Given the description of an element on the screen output the (x, y) to click on. 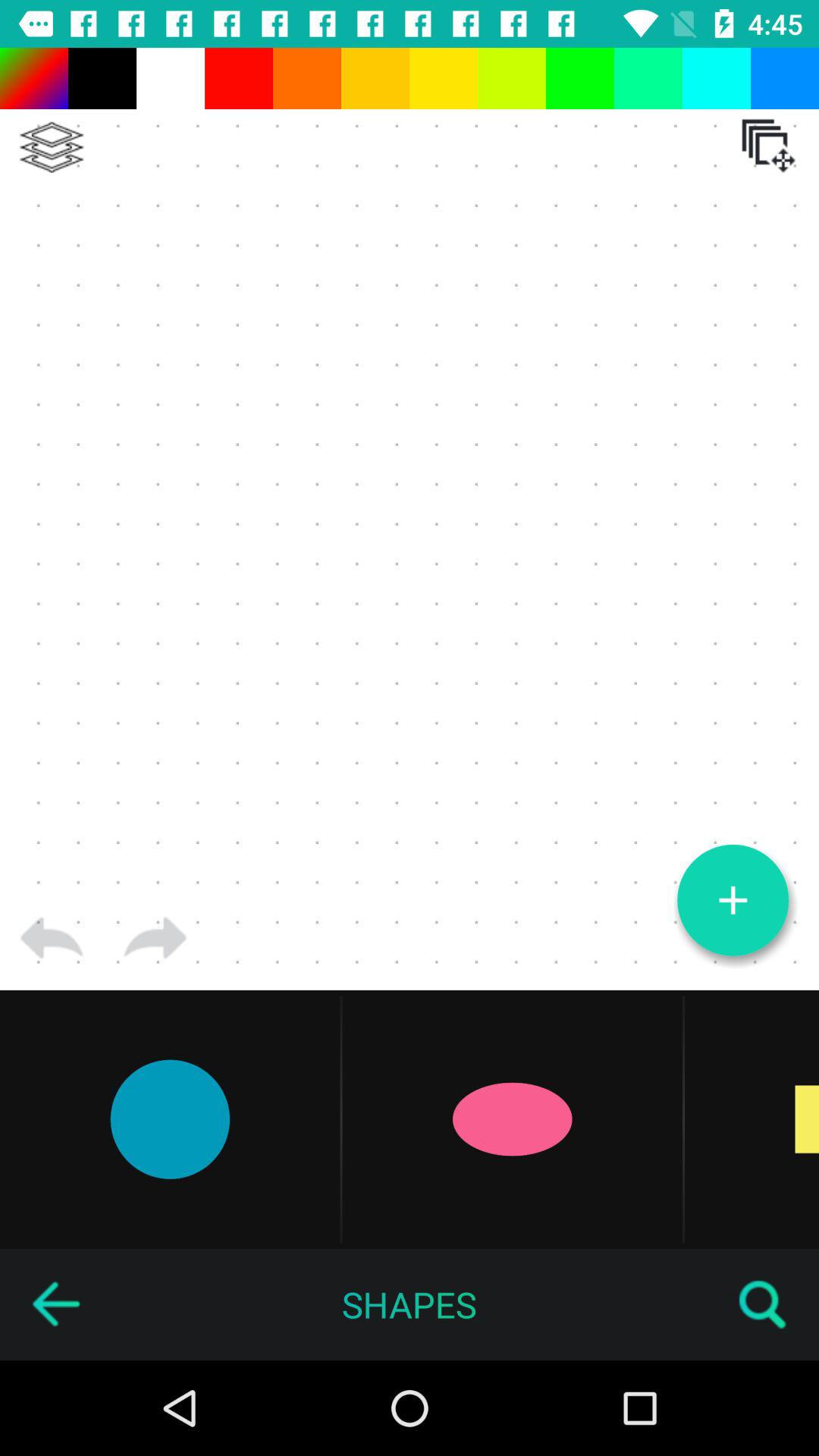
create new logo (733, 900)
